Given the description of an element on the screen output the (x, y) to click on. 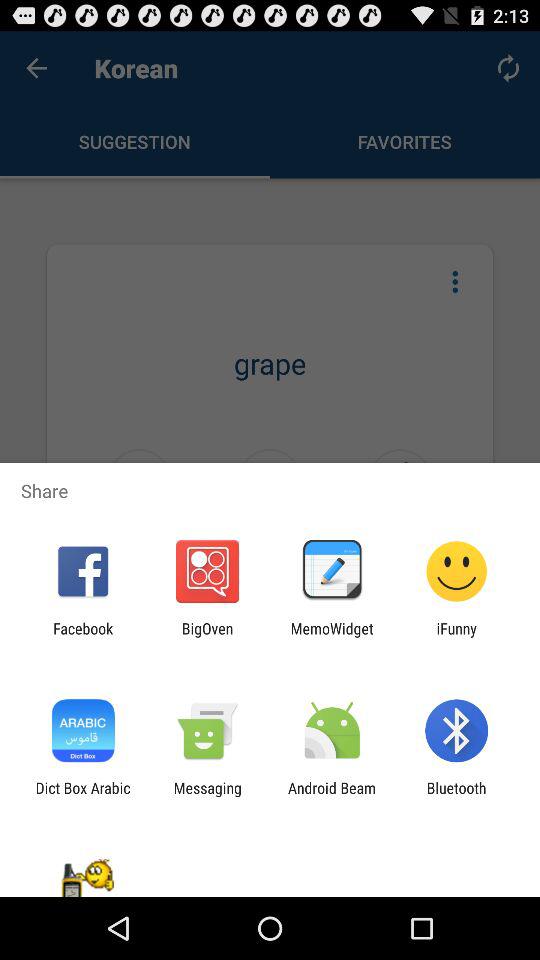
swipe until the facebook item (83, 637)
